Given the description of an element on the screen output the (x, y) to click on. 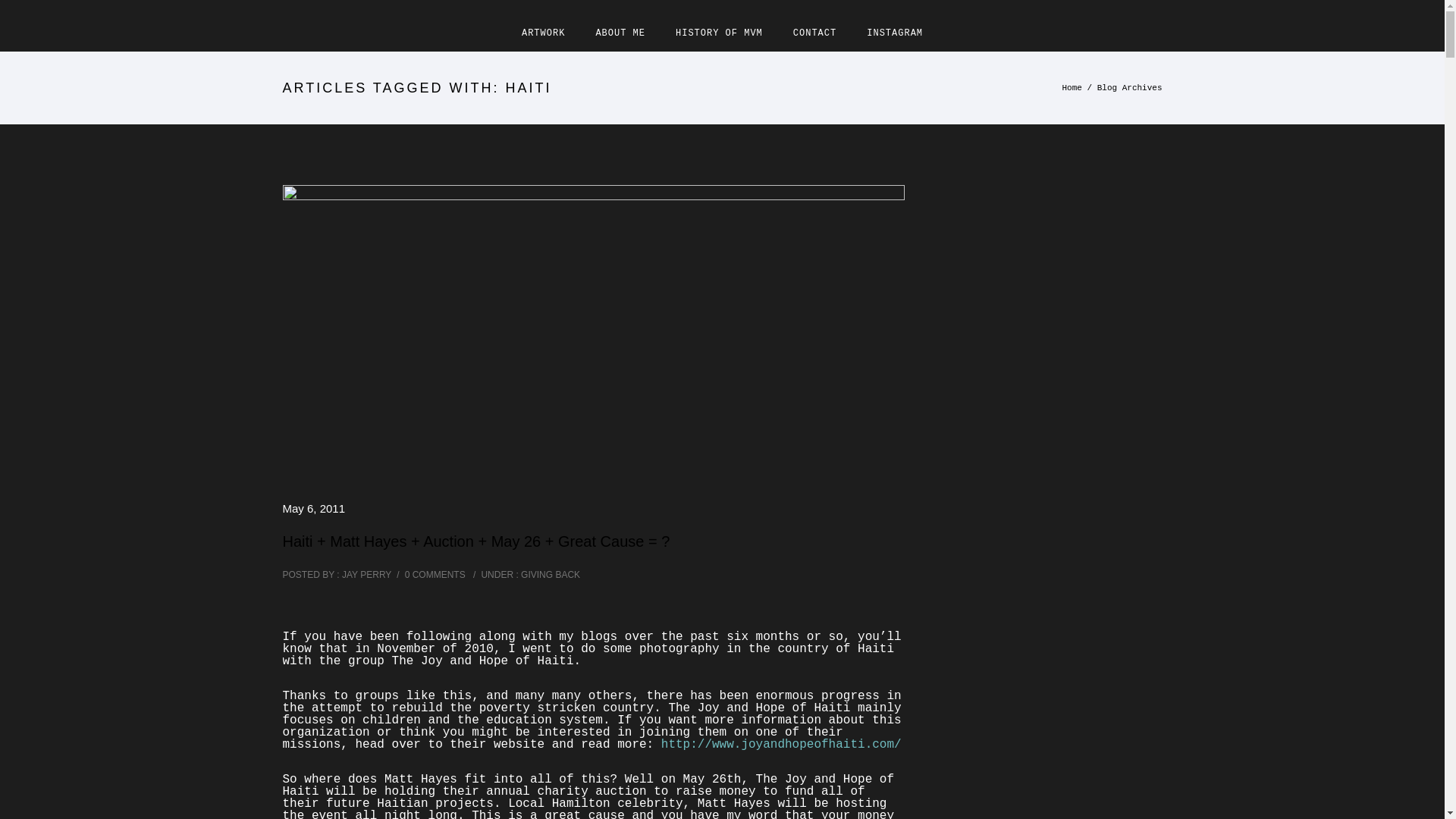
GIVING BACK (548, 574)
HISTORY OF MVM (719, 32)
ARTWORK (542, 32)
Contact (814, 32)
INSTAGRAM (894, 32)
ABOUT ME (620, 32)
Home (1071, 87)
0 COMMENTS (434, 574)
View all posts in Giving Back (548, 574)
About Me (620, 32)
Instagram (894, 32)
Artwork (542, 32)
May 6, 2011 (313, 508)
CONTACT (814, 32)
History of MvM (719, 32)
